Given the description of an element on the screen output the (x, y) to click on. 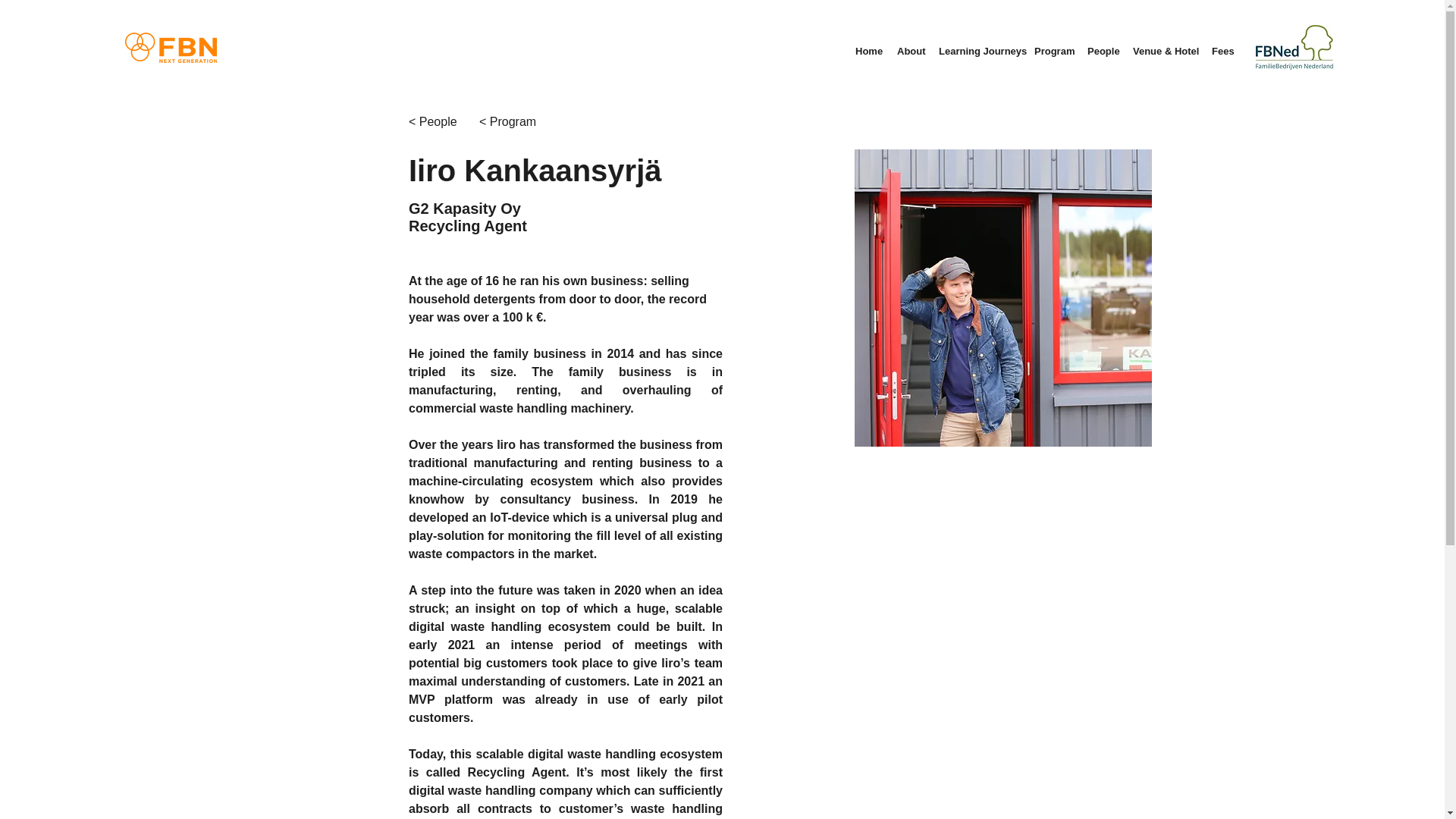
Learning Journeys (978, 51)
Home (868, 51)
About (910, 51)
Program (1053, 51)
Fees (1222, 51)
People (1102, 51)
